Given the description of an element on the screen output the (x, y) to click on. 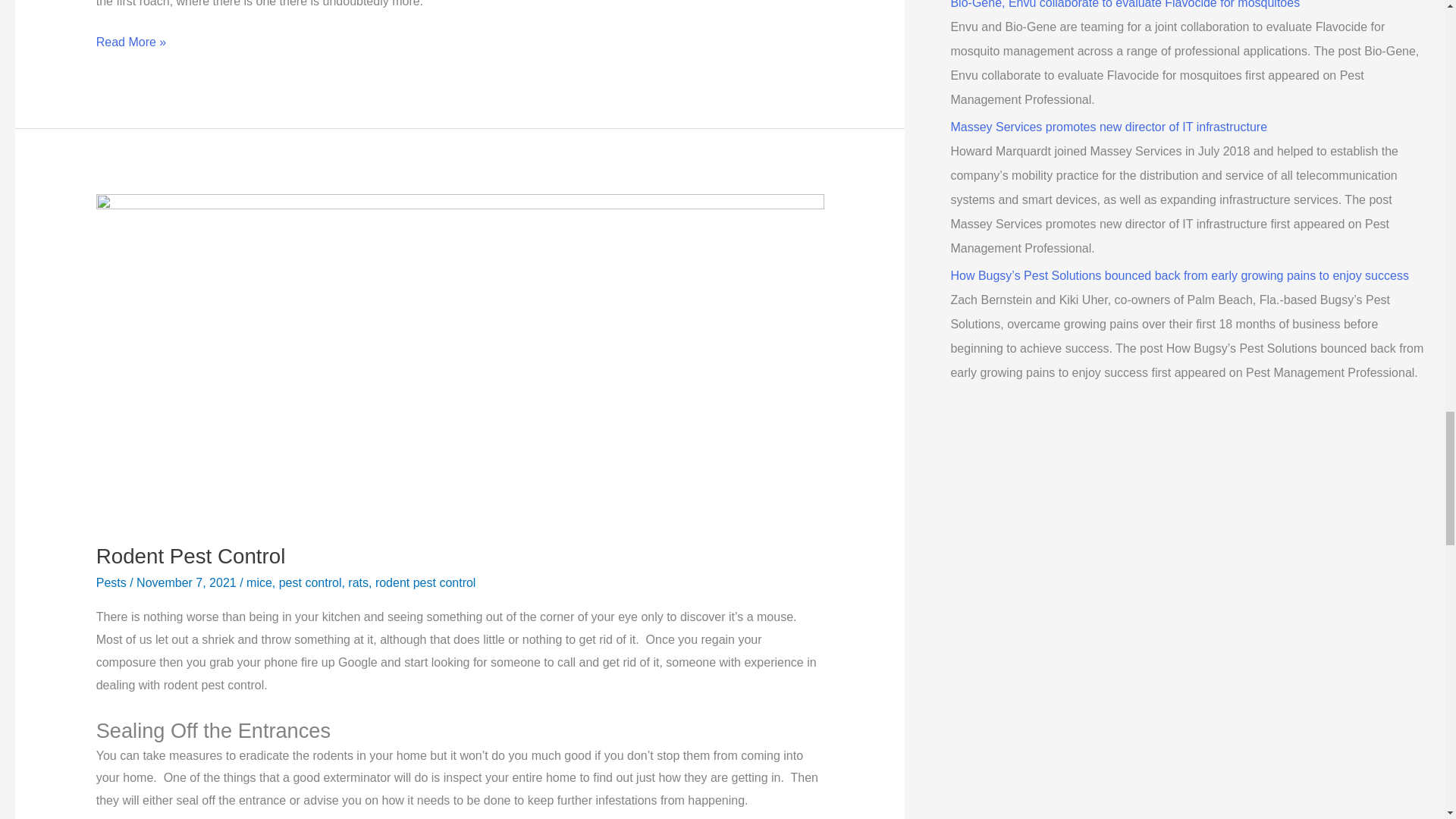
mice (259, 582)
Rodent Pest Control (190, 556)
Pests (111, 582)
